Given the description of an element on the screen output the (x, y) to click on. 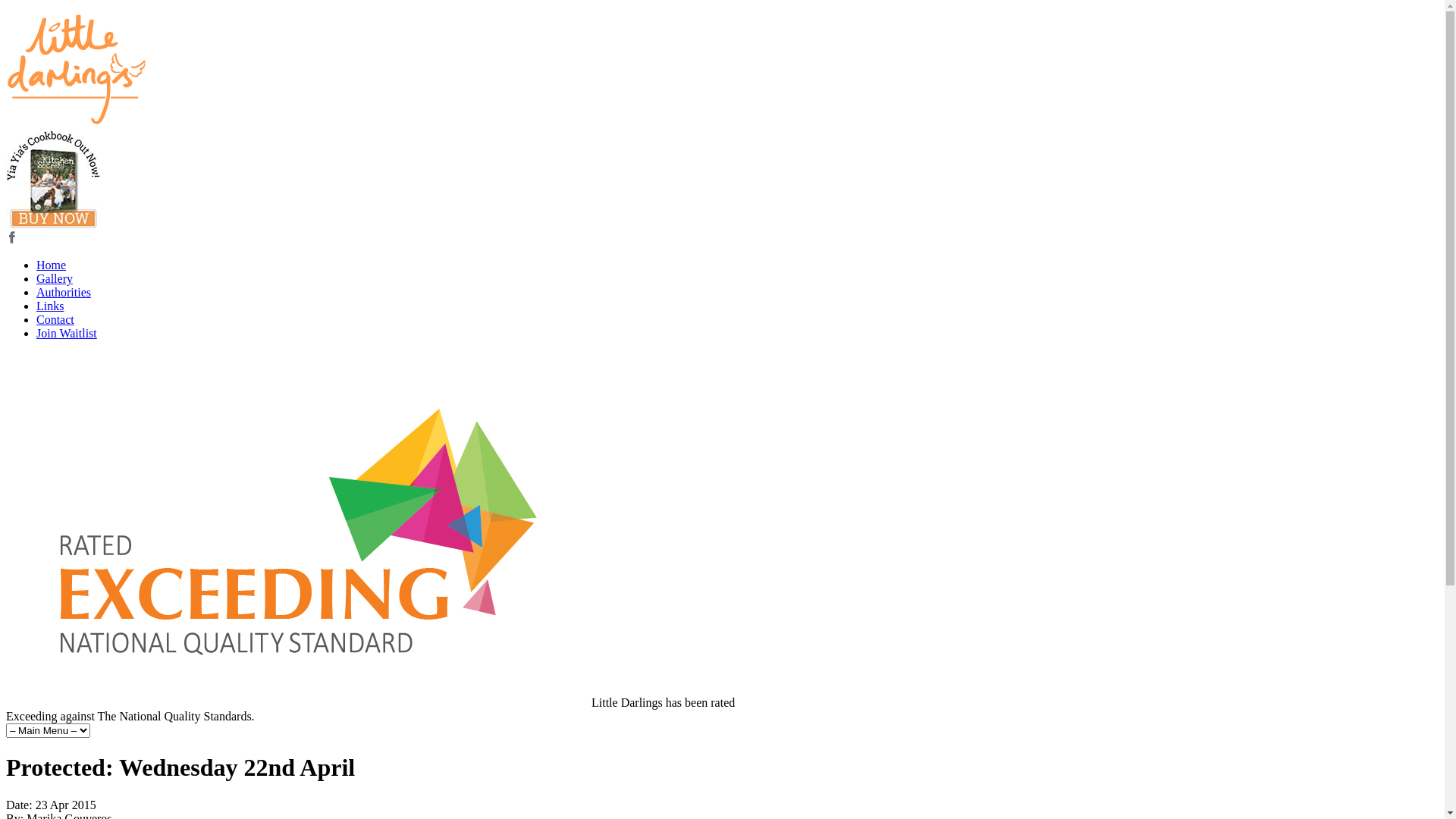
Authorities Element type: text (63, 291)
Gallery Element type: text (54, 278)
Contact Element type: text (55, 319)
Home Element type: text (50, 264)
Links Element type: text (49, 305)
Join Waitlist Element type: text (66, 332)
